Given the description of an element on the screen output the (x, y) to click on. 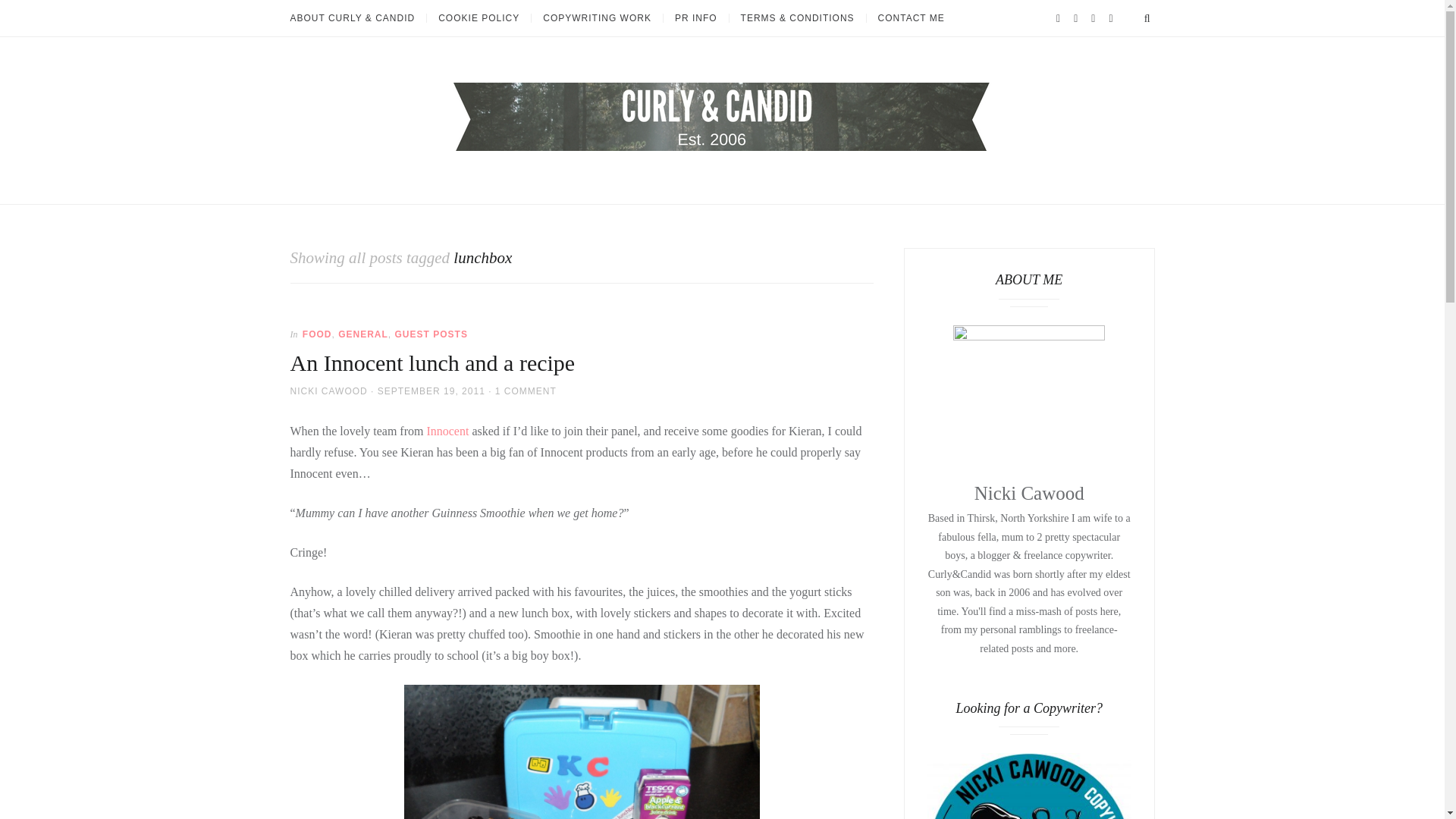
PR INFO (695, 17)
1 COMMENT (525, 390)
COPYWRITING WORK (596, 17)
GUEST POSTS (430, 334)
Innocent (447, 431)
SEPTEMBER 19, 2011 (430, 390)
An Innocent lunch and a recipe (432, 362)
GENERAL (362, 334)
CURLY AND CANDID (342, 194)
CONTACT ME (911, 17)
COOKIE POLICY (478, 17)
FOOD (316, 334)
yummy (582, 751)
NICKI CAWOOD (327, 390)
